Given the description of an element on the screen output the (x, y) to click on. 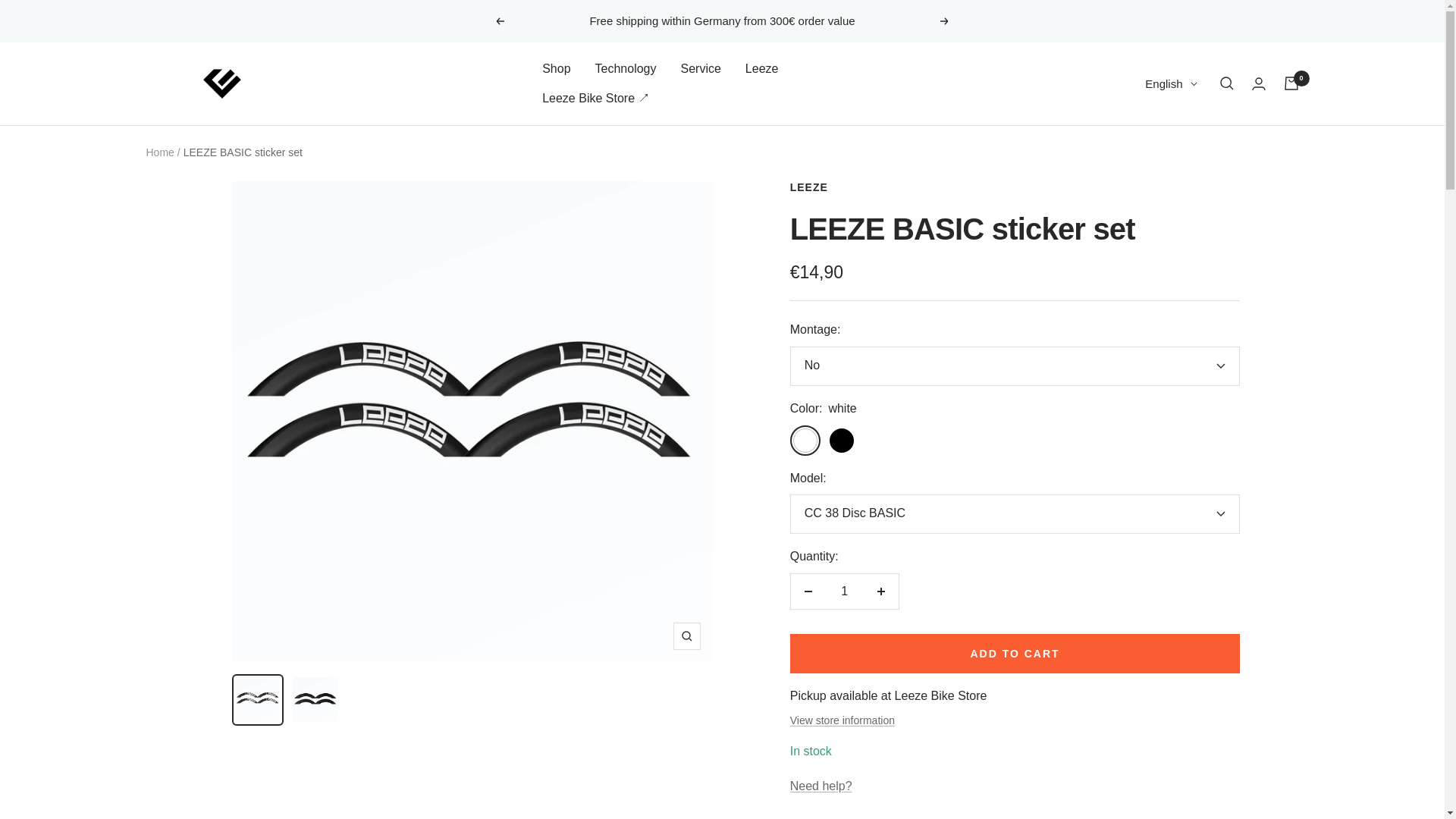
Leeze (221, 83)
Leeze (761, 68)
Next (944, 21)
Shop (555, 68)
911851815245 (1015, 441)
Home (159, 152)
Technology (625, 68)
Service (700, 68)
en (1162, 163)
